Given the description of an element on the screen output the (x, y) to click on. 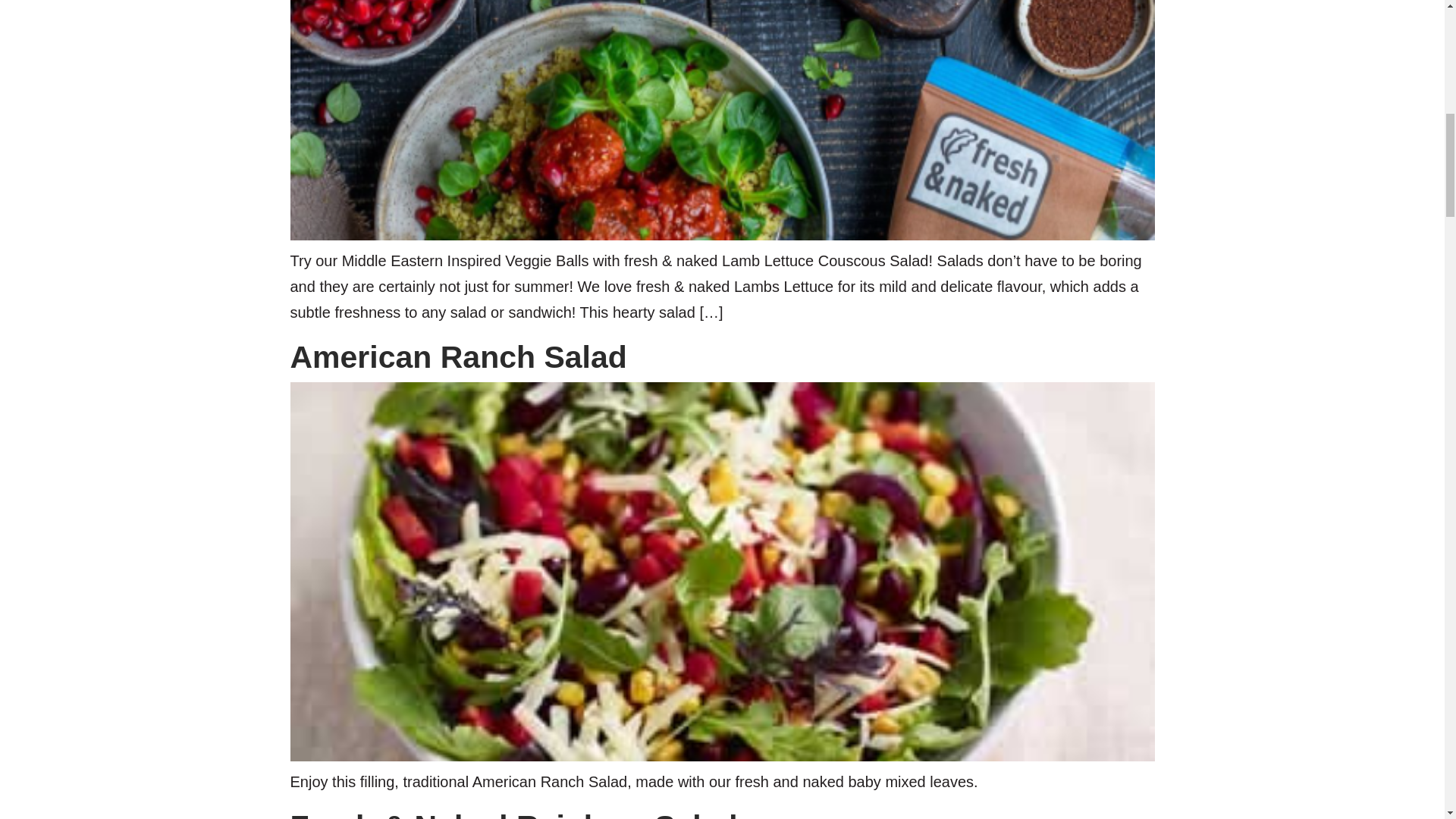
American Ranch Salad (457, 356)
